Given the description of an element on the screen output the (x, y) to click on. 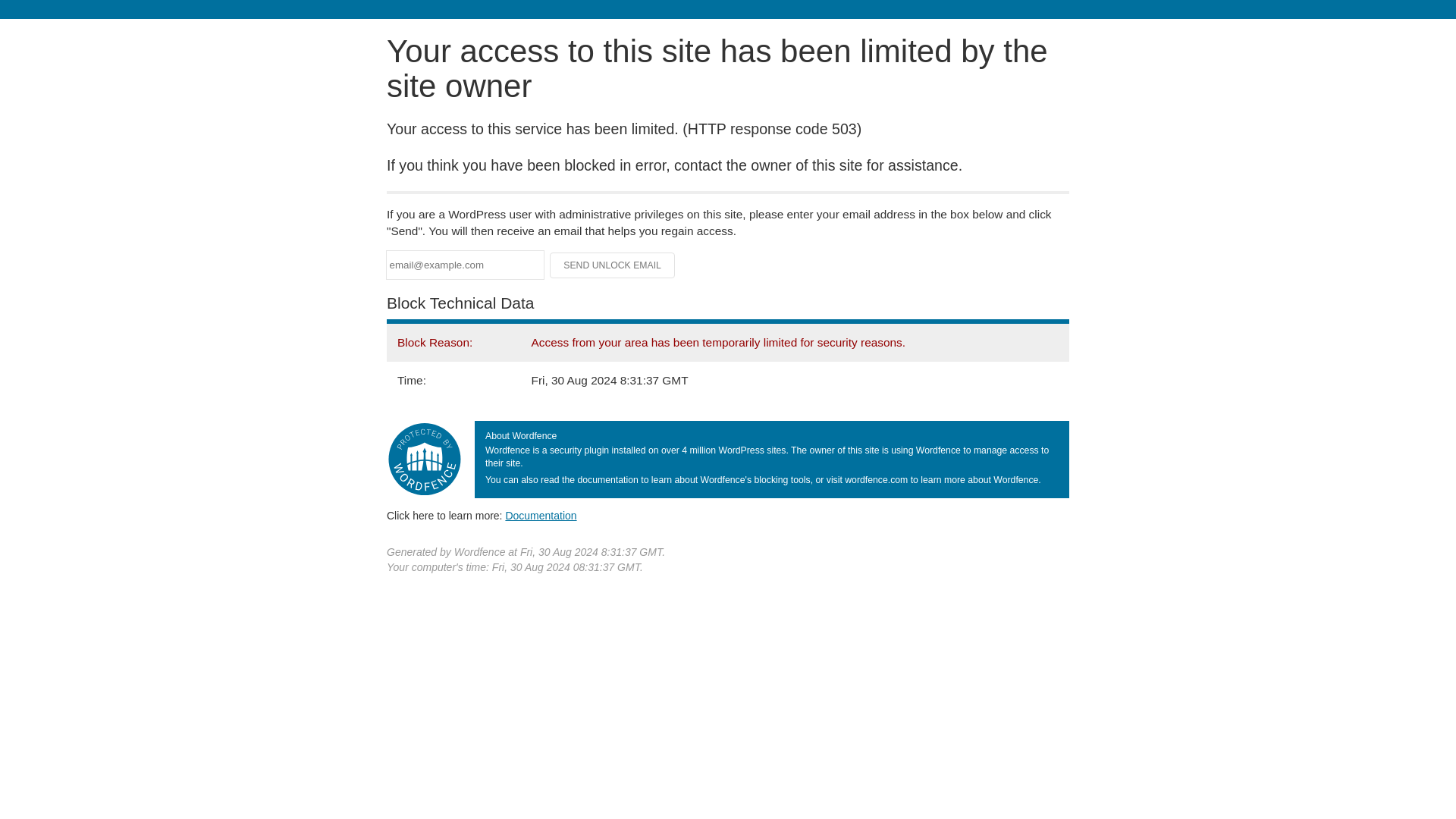
Send Unlock Email (612, 265)
Send Unlock Email (612, 265)
Documentation (540, 515)
